Given the description of an element on the screen output the (x, y) to click on. 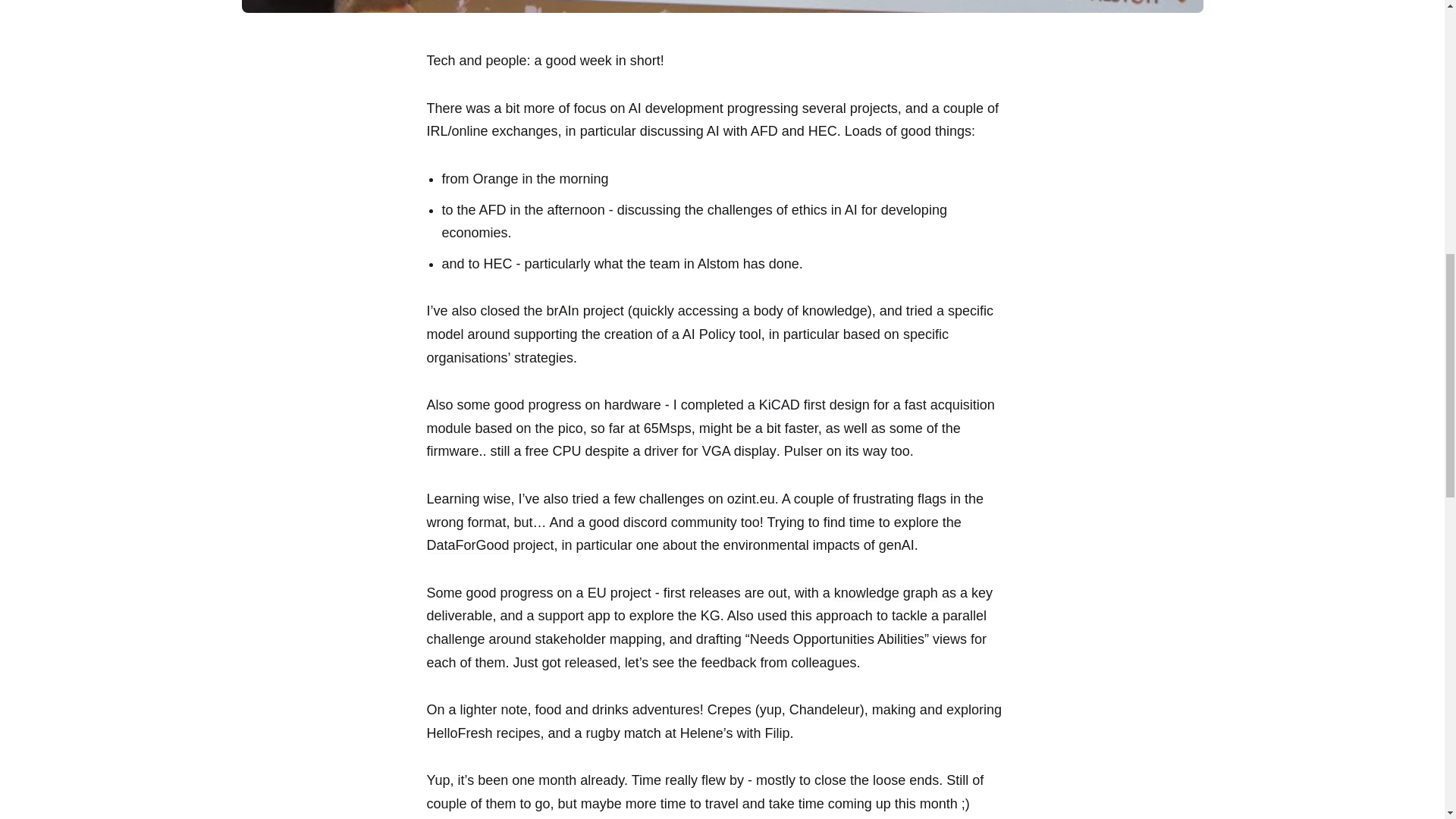
ozint.eu (750, 499)
knowledge graph (885, 593)
Orange (495, 182)
Pulser (803, 453)
VGA display (738, 453)
KiCAD first design (813, 407)
DataForGood (467, 545)
brAIn (563, 314)
